Given the description of an element on the screen output the (x, y) to click on. 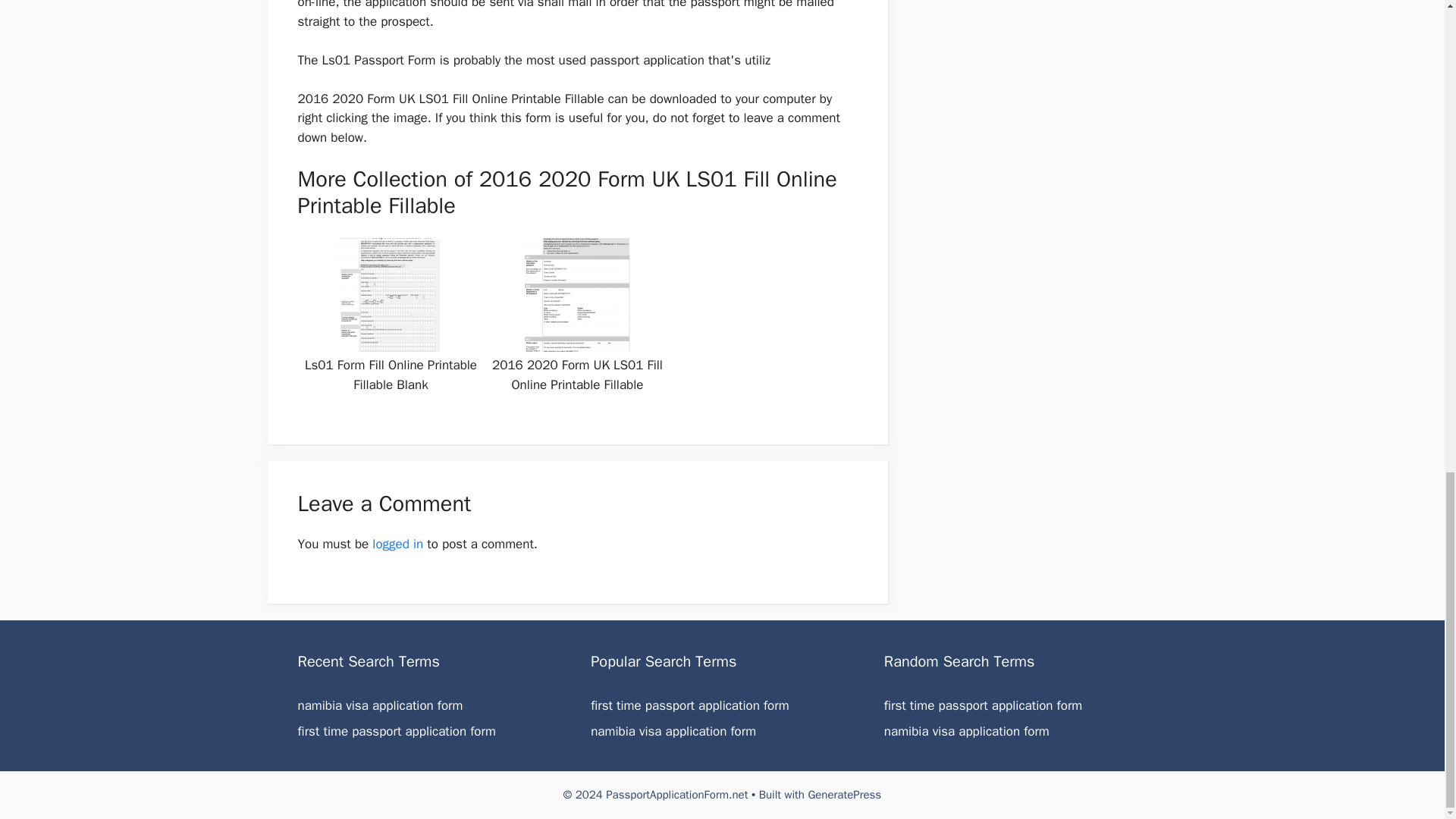
first time passport application form (396, 731)
namibia visa application form (380, 705)
first time passport application form (690, 705)
first time passport application form (982, 705)
GeneratePress (844, 794)
first time passport application form (396, 731)
namibia visa application form (673, 731)
first time passport application form (690, 705)
namibia visa application form (966, 731)
namibia visa application form (380, 705)
first time passport application form (982, 705)
logged in (397, 544)
namibia visa application form (966, 731)
namibia visa application form (673, 731)
